Given the description of an element on the screen output the (x, y) to click on. 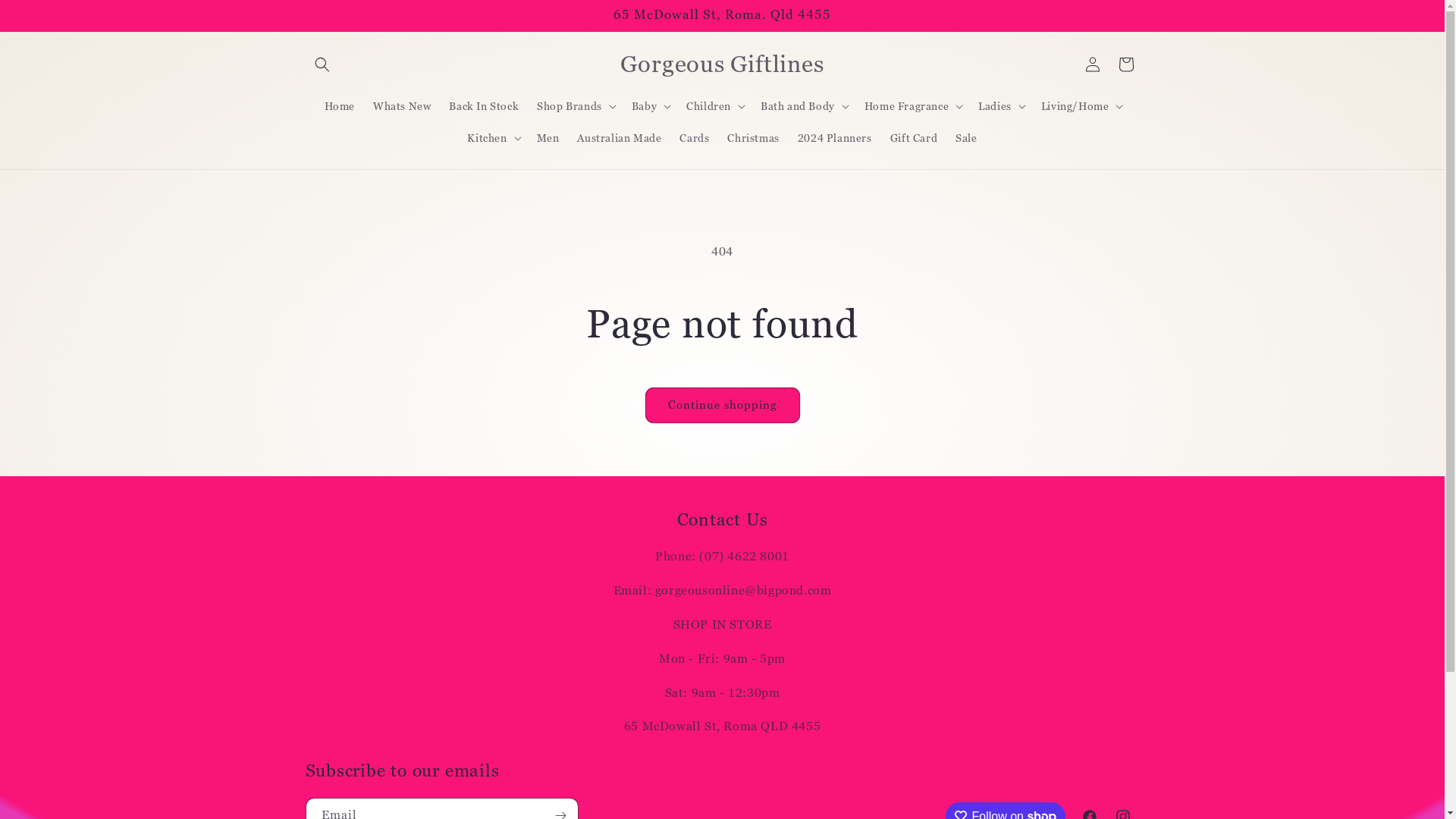
Log in Element type: text (1091, 64)
Gift Card Element type: text (913, 137)
Continue shopping Element type: text (721, 405)
Whats New Element type: text (401, 105)
Gorgeous Giftlines Element type: text (722, 64)
Christmas Element type: text (752, 137)
Australian Made Element type: text (618, 137)
Home Element type: text (339, 105)
Sale Element type: text (965, 137)
2024 Planners Element type: text (834, 137)
Back In Stock Element type: text (483, 105)
Cards Element type: text (694, 137)
Men Element type: text (547, 137)
Cart Element type: text (1125, 64)
